Given the description of an element on the screen output the (x, y) to click on. 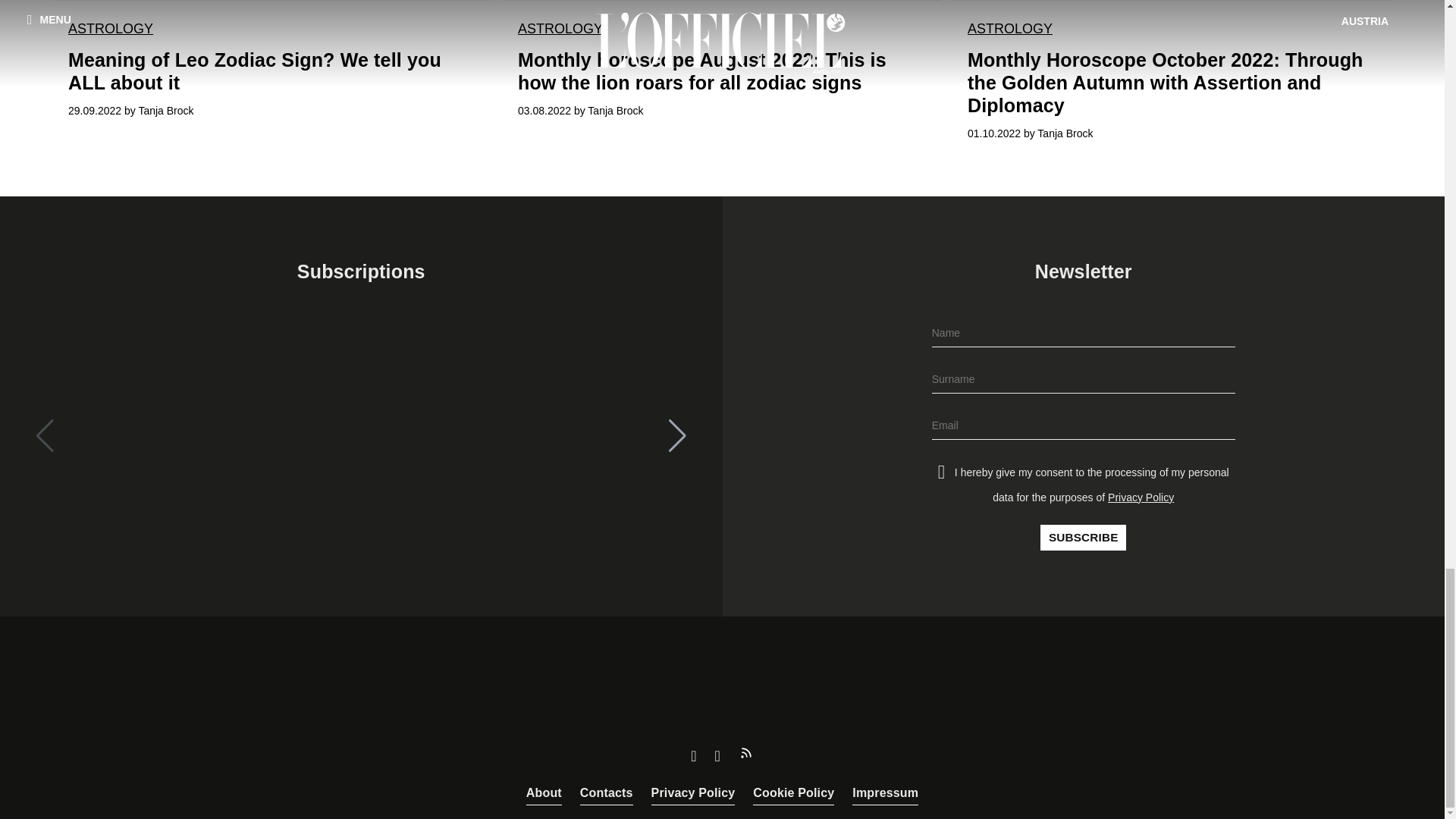
Cookie Policy (793, 793)
Privacy Policy (692, 793)
Subscribe (1083, 537)
